Given the description of an element on the screen output the (x, y) to click on. 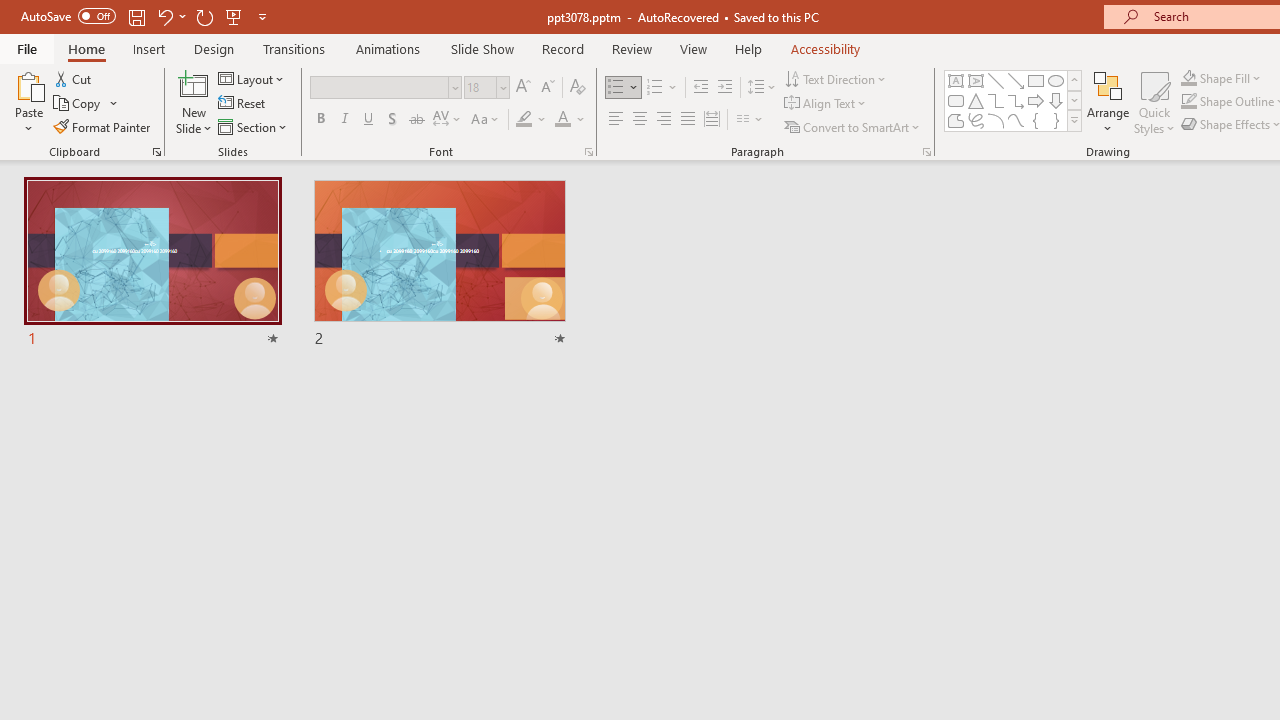
Shape Fill Dark Green, Accent 2 (1188, 78)
